Given the description of an element on the screen output the (x, y) to click on. 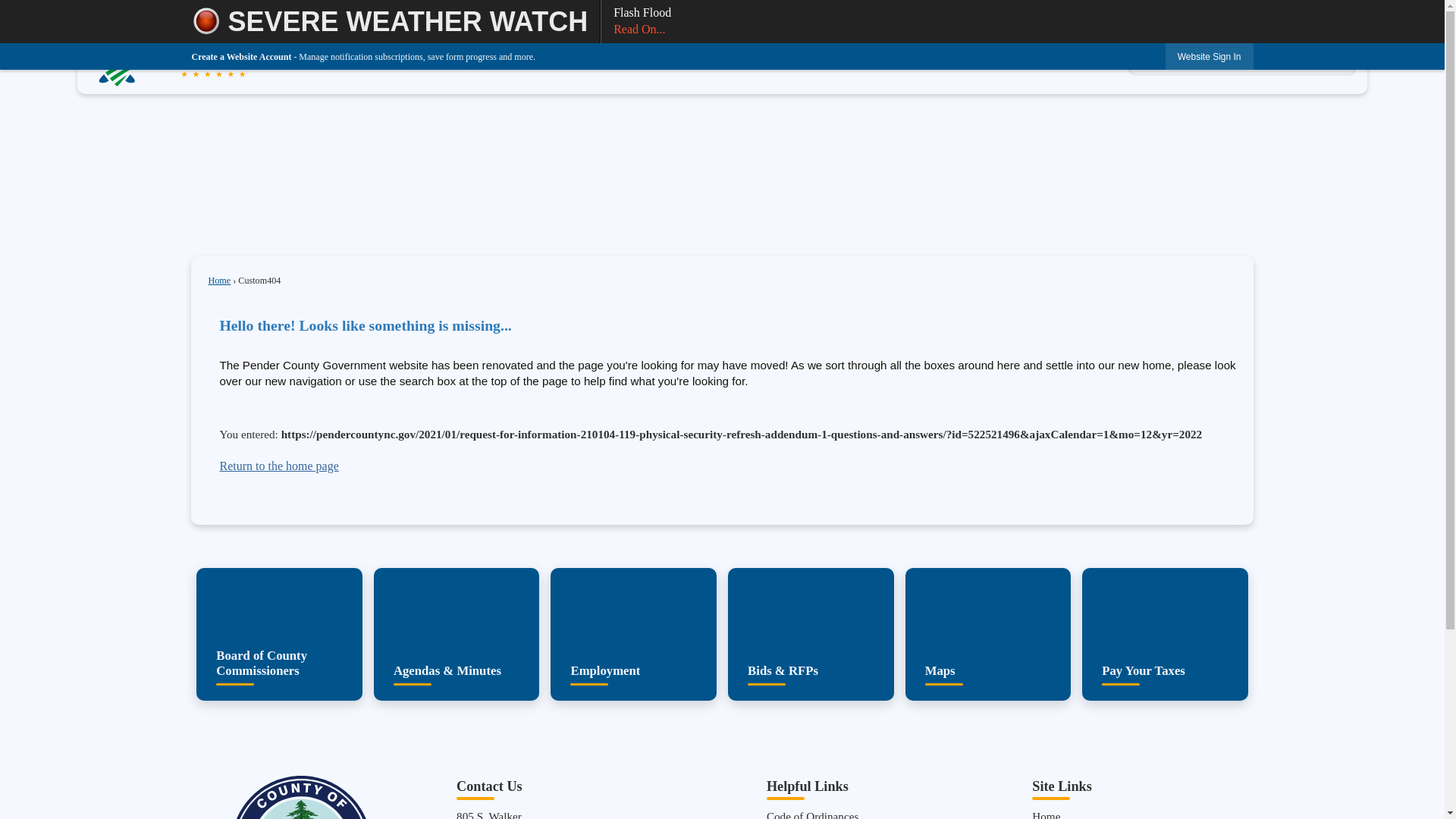
DEPARTMENTS (713, 52)
GOVERNMENT (540, 52)
Home (219, 280)
SERVICES (626, 52)
Search (1241, 53)
BUSINESS (800, 52)
Site Links (1062, 785)
Home (1045, 814)
Board of County Commissioners (278, 634)
Code of Ordinances (813, 814)
